Given the description of an element on the screen output the (x, y) to click on. 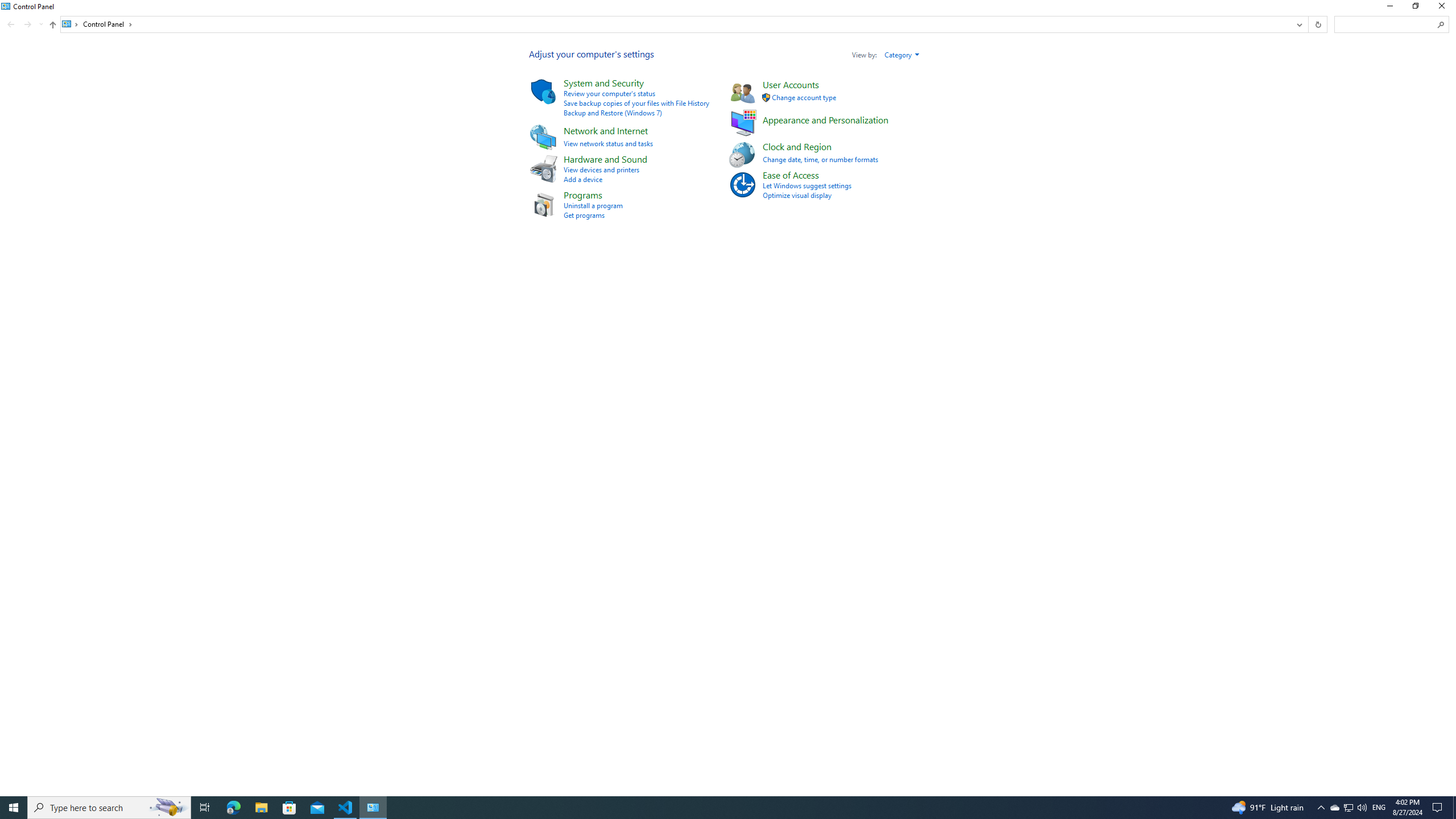
Refresh "Control Panel" (F5) (1316, 23)
Backup and Restore (Windows 7) (612, 112)
Navigation buttons (24, 23)
Uninstall a program (593, 205)
Running applications (706, 807)
Search (1441, 24)
System (6, 6)
Up to "Desktop" (Alt + Up Arrow) (52, 24)
System (6, 6)
Recent locations (40, 23)
Up band toolbar (52, 26)
Optimize visual display (796, 194)
